Given the description of an element on the screen output the (x, y) to click on. 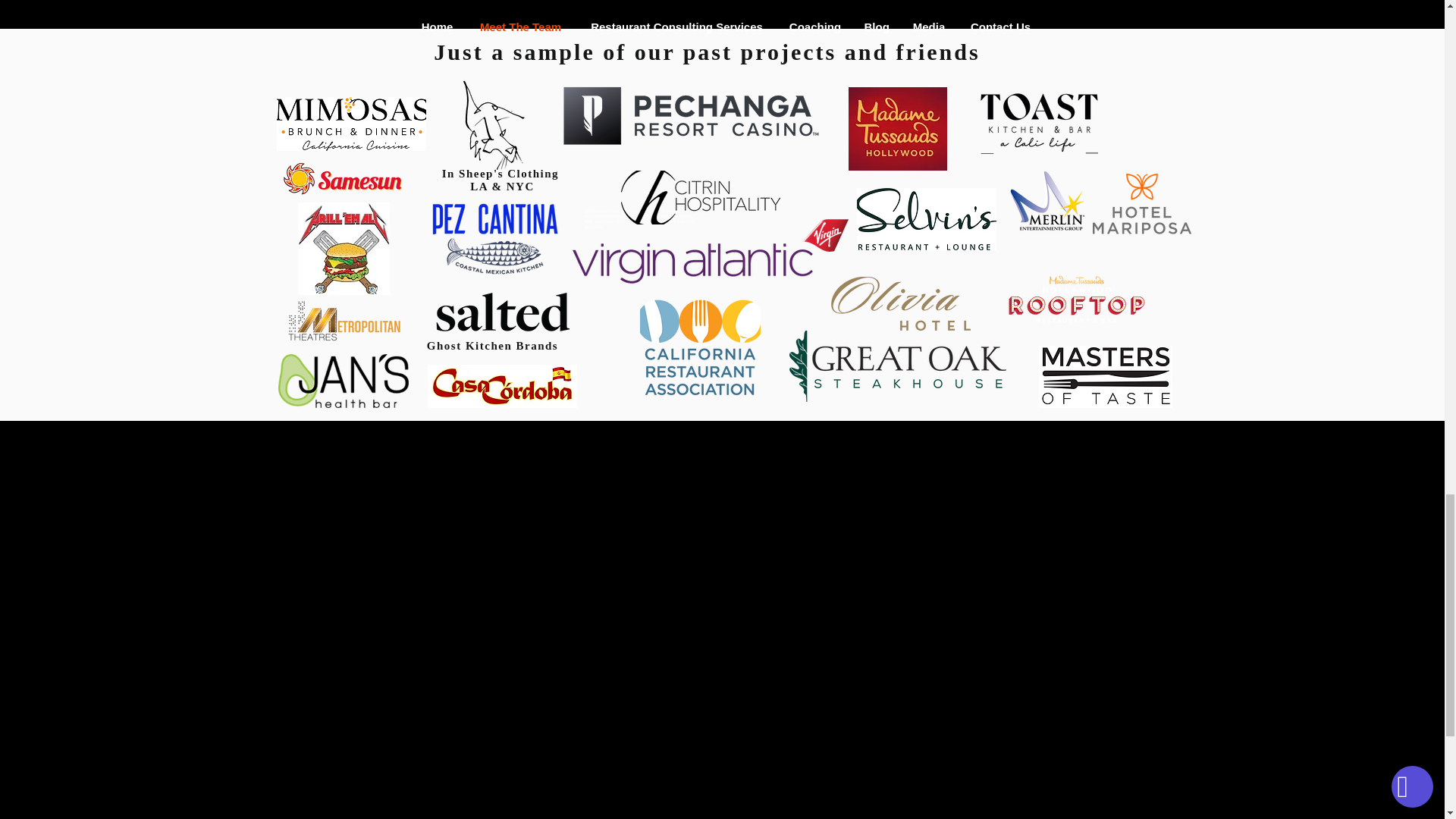
cropped-Olivia.png (901, 303)
unnamed.png (926, 219)
logo.png (502, 385)
